Given the description of an element on the screen output the (x, y) to click on. 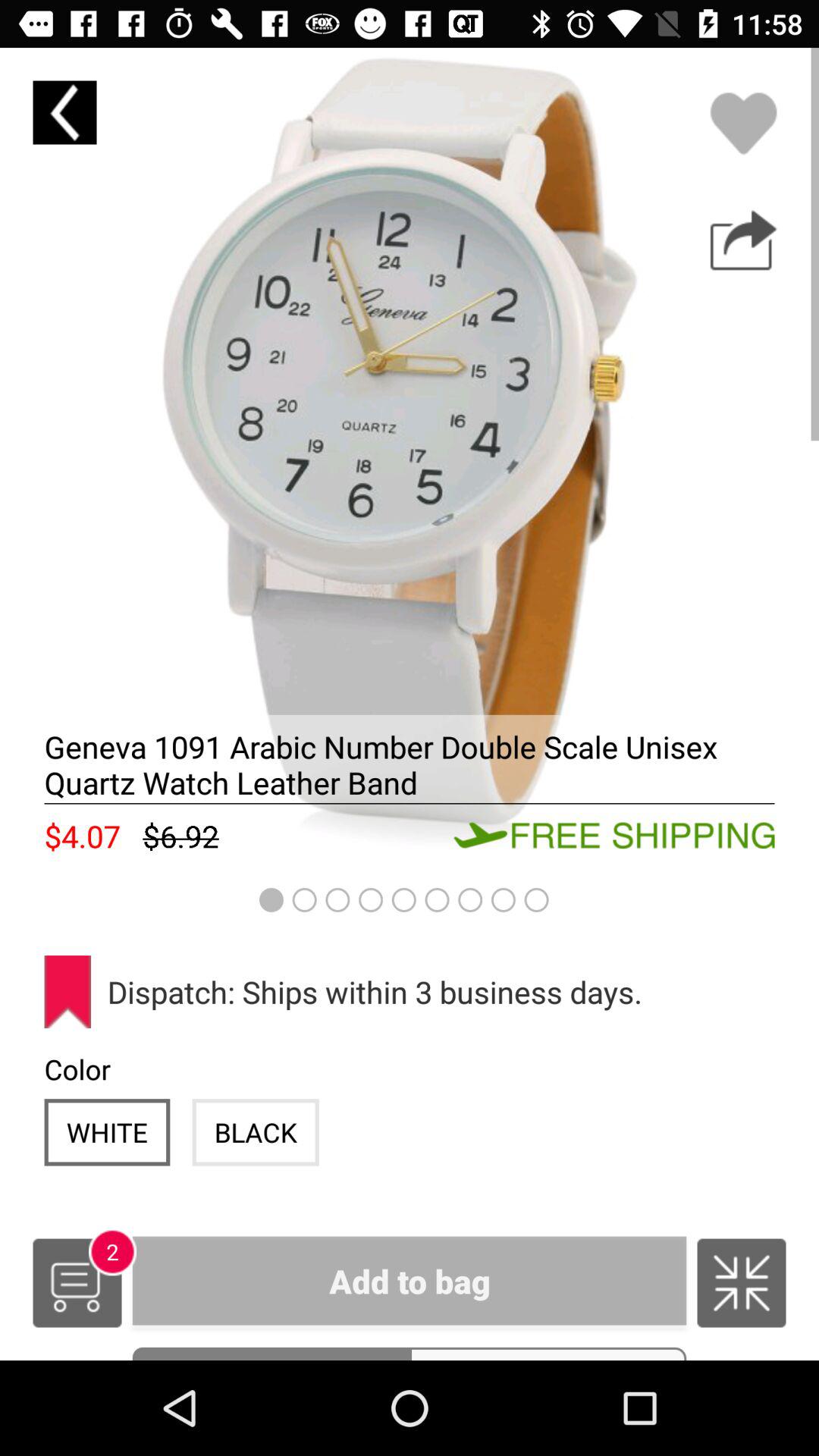
save article to favorites (743, 122)
